Given the description of an element on the screen output the (x, y) to click on. 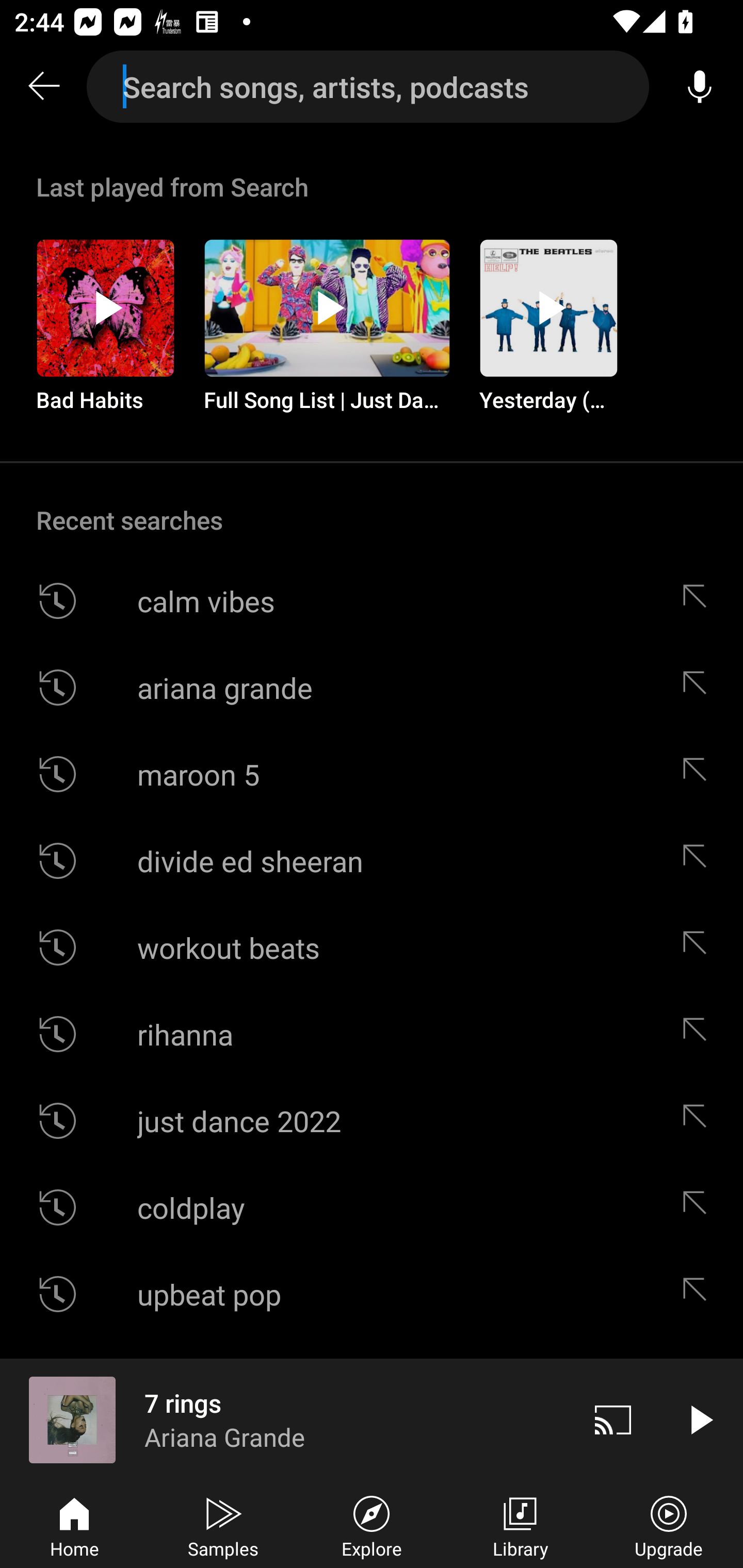
Search back (43, 86)
Search songs, artists, podcasts (367, 86)
Voice search (699, 86)
calm vibes Edit suggestion calm vibes (371, 601)
Edit suggestion calm vibes (699, 601)
ariana grande Edit suggestion ariana grande (371, 687)
Edit suggestion ariana grande (699, 687)
maroon 5 Edit suggestion maroon 5 (371, 773)
Edit suggestion maroon 5 (699, 773)
Edit suggestion divide ed sheeran (699, 860)
workout beats Edit suggestion workout beats (371, 947)
Edit suggestion workout beats (699, 947)
rihanna Edit suggestion rihanna (371, 1033)
Edit suggestion rihanna (699, 1033)
just dance 2022 Edit suggestion just dance 2022 (371, 1120)
Edit suggestion just dance 2022 (699, 1120)
coldplay Edit suggestion coldplay (371, 1207)
Edit suggestion coldplay (699, 1207)
upbeat pop Edit suggestion upbeat pop (371, 1294)
Edit suggestion upbeat pop (699, 1294)
7 rings Ariana Grande (284, 1419)
Cast. Disconnected (612, 1419)
Play video (699, 1419)
Home (74, 1524)
Samples (222, 1524)
Explore (371, 1524)
Library (519, 1524)
Upgrade (668, 1524)
